Given the description of an element on the screen output the (x, y) to click on. 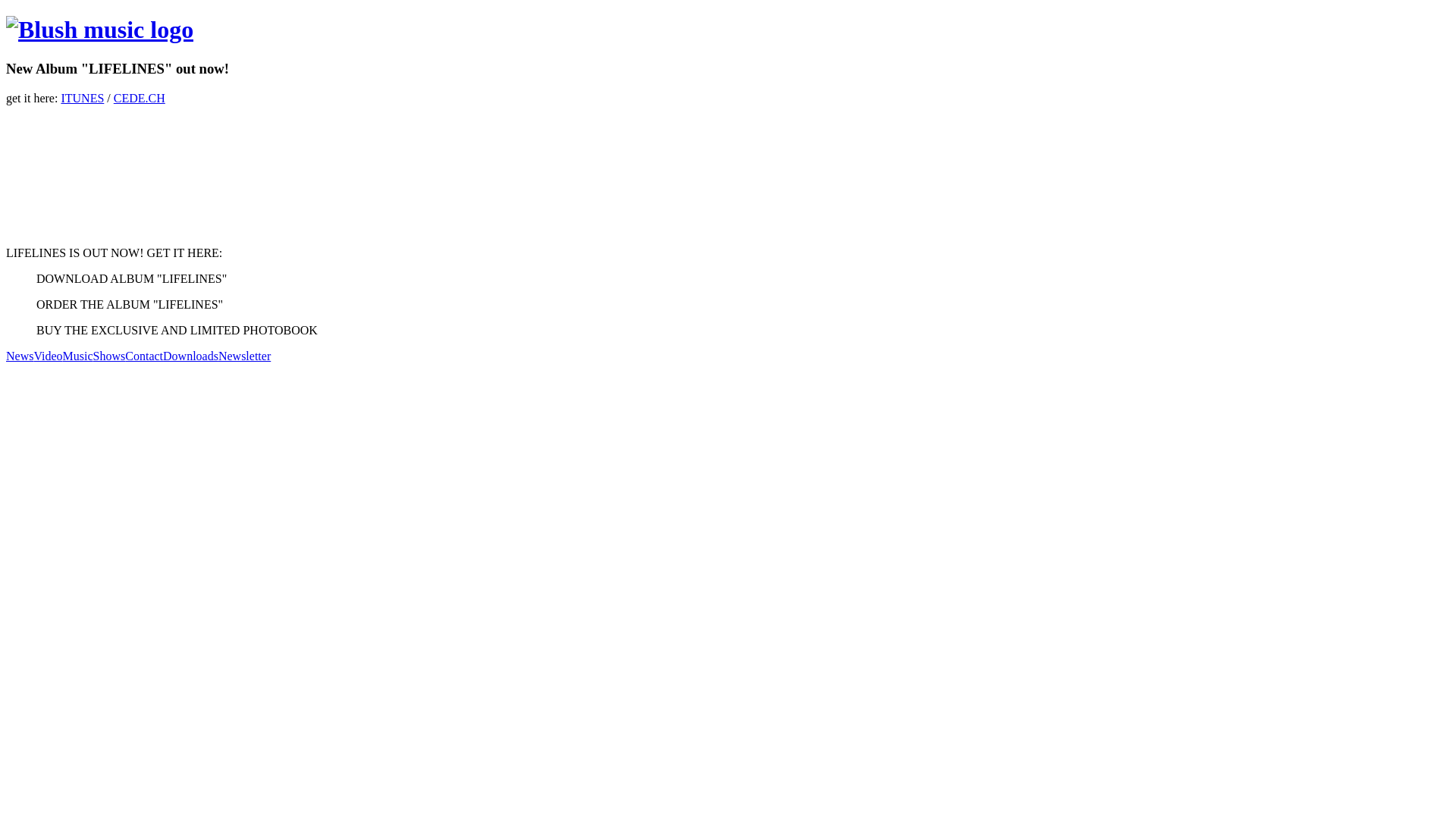
CEDE.CH Element type: text (139, 97)
Shows Element type: text (109, 355)
Newsletter Element type: text (244, 355)
Music Element type: text (77, 355)
ITUNES Element type: text (81, 97)
News Element type: text (19, 355)
Video Element type: text (47, 355)
Contact Element type: text (144, 355)
Downloads Element type: text (190, 355)
